Given the description of an element on the screen output the (x, y) to click on. 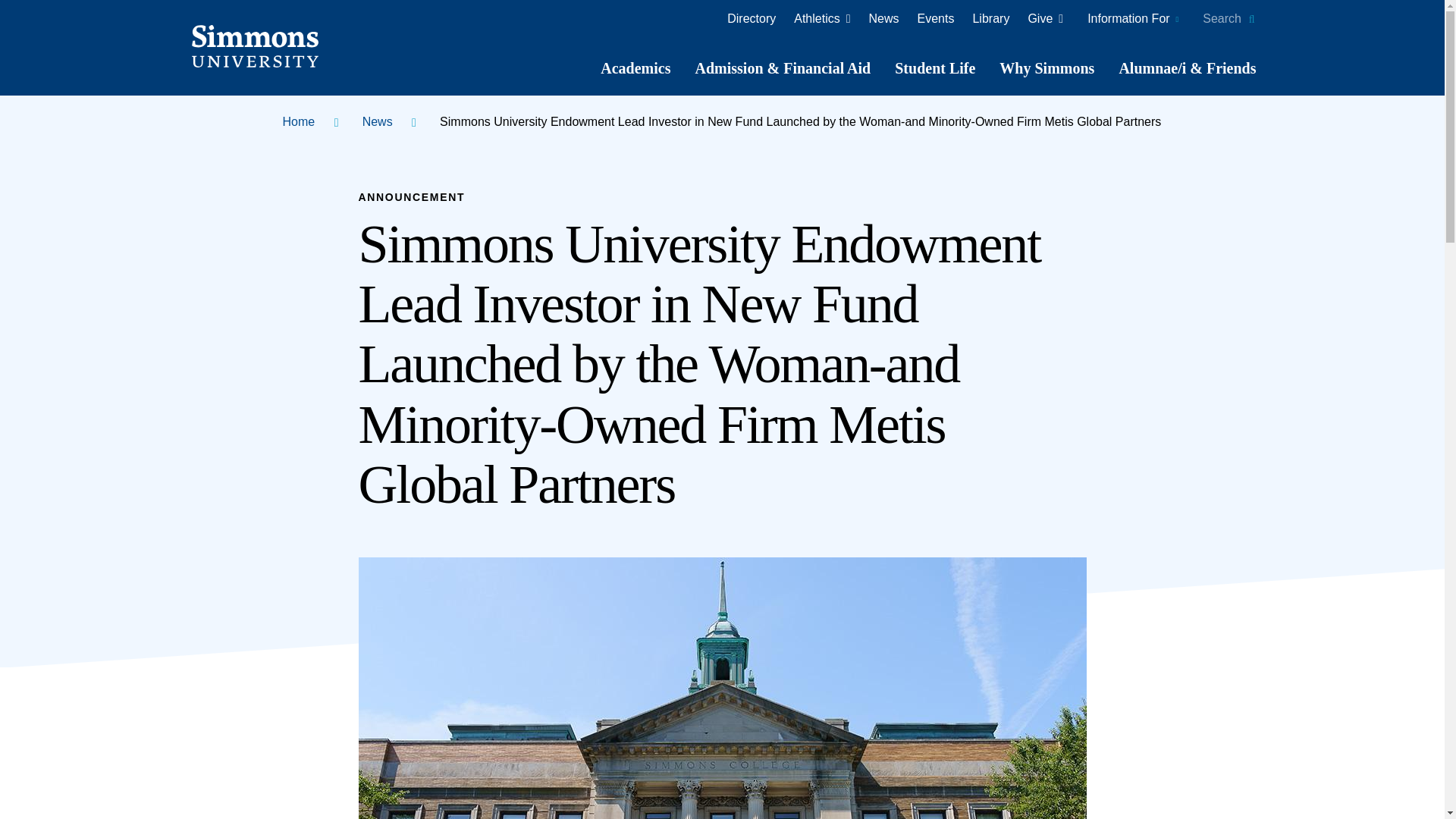
Athletics (821, 18)
News (1228, 18)
Directory (884, 18)
Events (750, 18)
Academics (935, 18)
Library (635, 68)
Give (989, 18)
Simmons University Home (1044, 18)
